Given the description of an element on the screen output the (x, y) to click on. 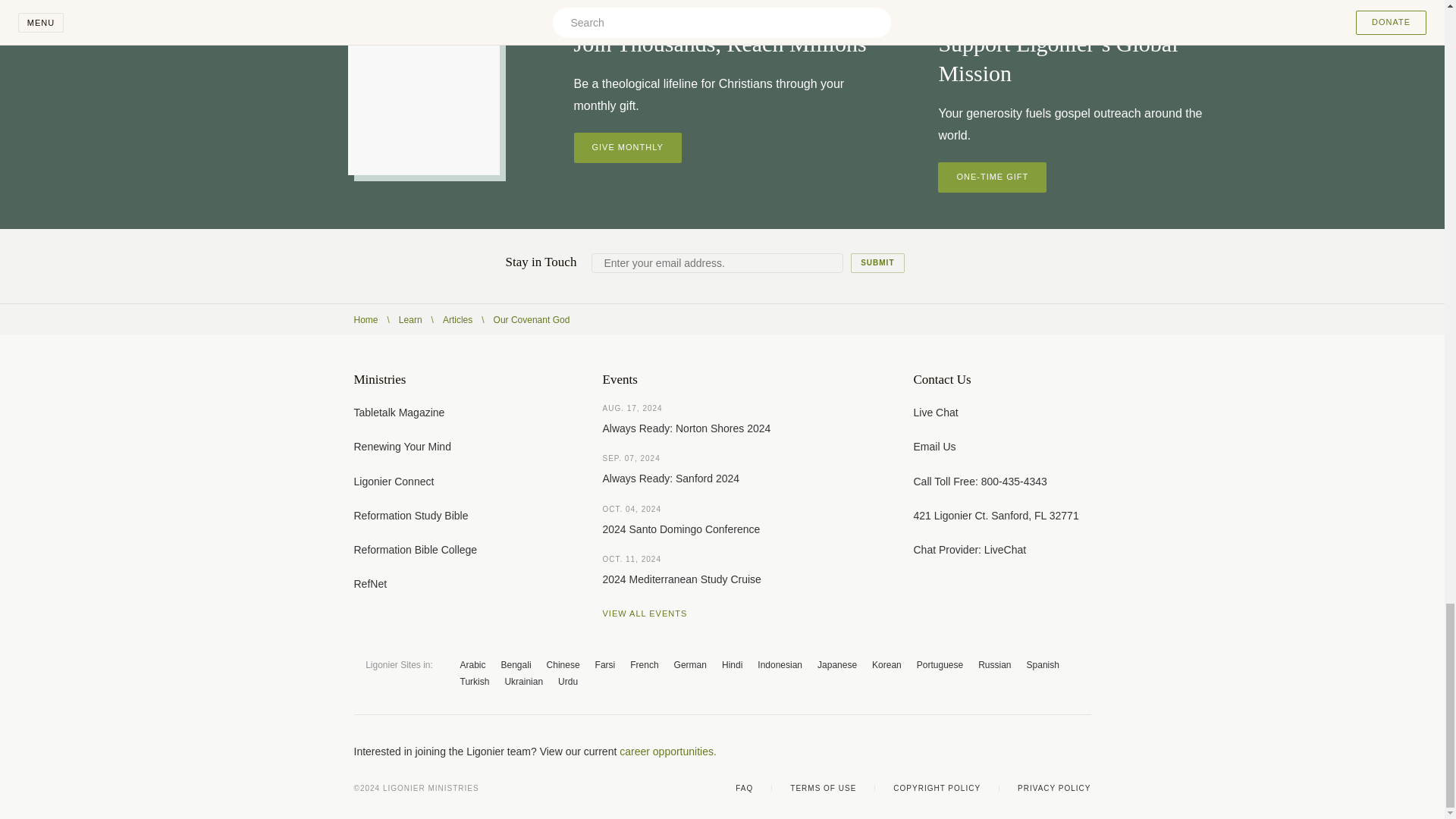
Linkedin (1083, 751)
X (993, 751)
Facebook (962, 751)
Instagram (1053, 751)
YouTube (1023, 751)
